Given the description of an element on the screen output the (x, y) to click on. 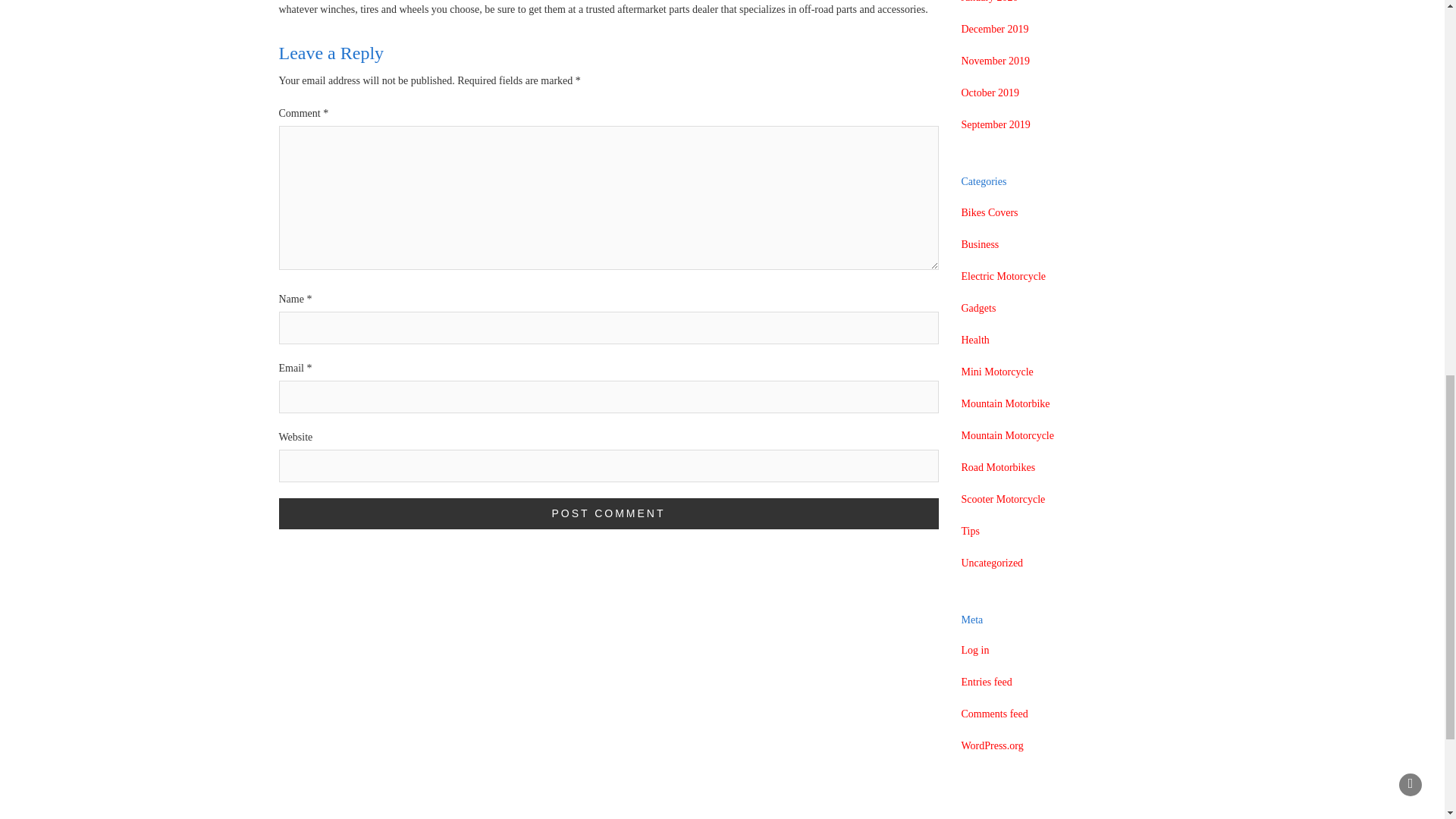
Post Comment (609, 513)
Bikes Covers (988, 212)
Electric Motorcycle (1003, 276)
December 2019 (994, 29)
November 2019 (995, 61)
September 2019 (995, 125)
Road Motorbikes (997, 467)
Mini Motorcycle (996, 371)
Health (975, 340)
January 2020 (988, 2)
